Given the description of an element on the screen output the (x, y) to click on. 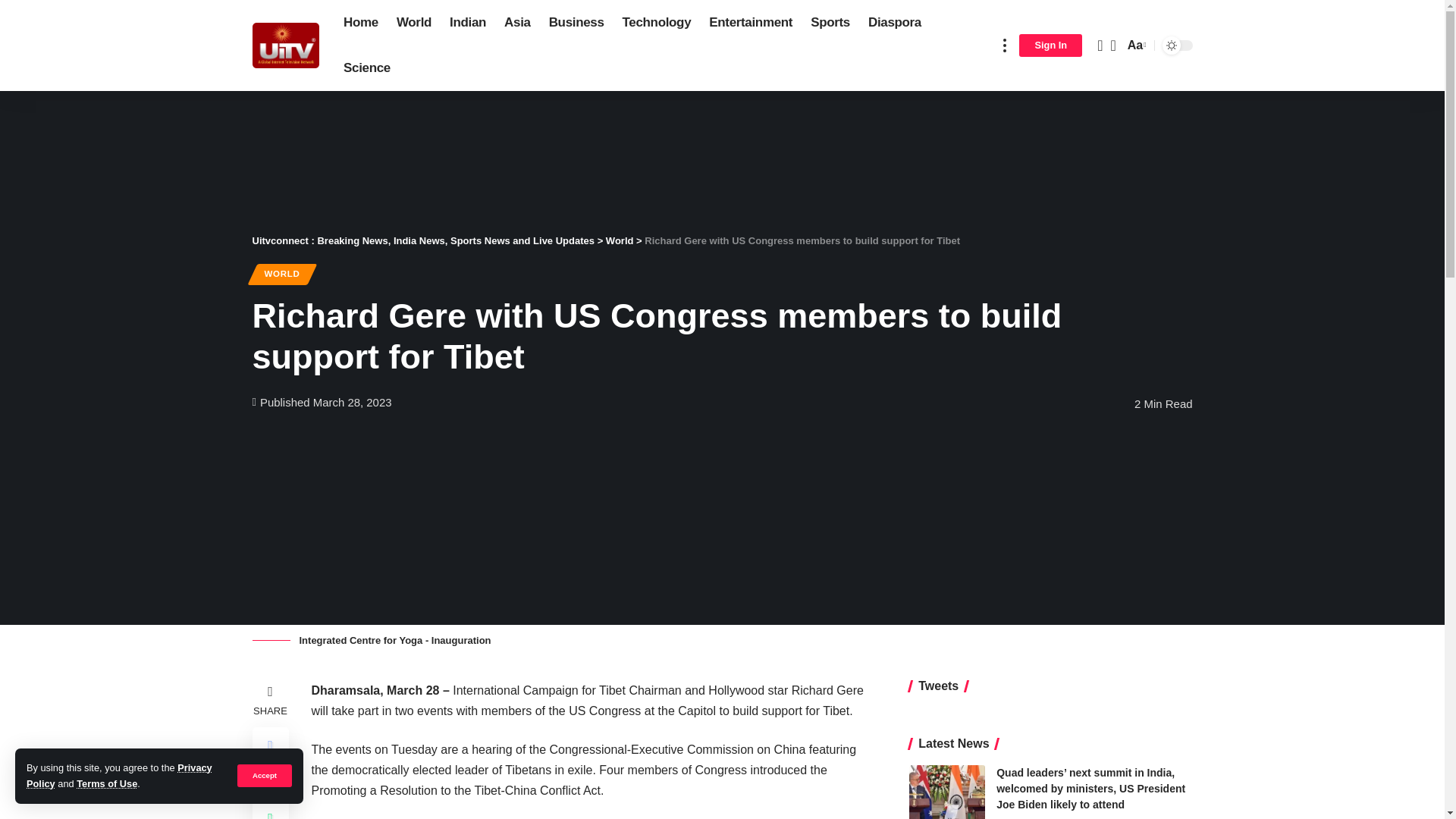
Accept (264, 775)
Asia (517, 22)
Privacy Policy (119, 775)
Technology (656, 22)
Indian (468, 22)
Sports (830, 22)
Terms of Use (106, 783)
Go to the World Category archives. (619, 240)
Diaspora (894, 22)
